Given the description of an element on the screen output the (x, y) to click on. 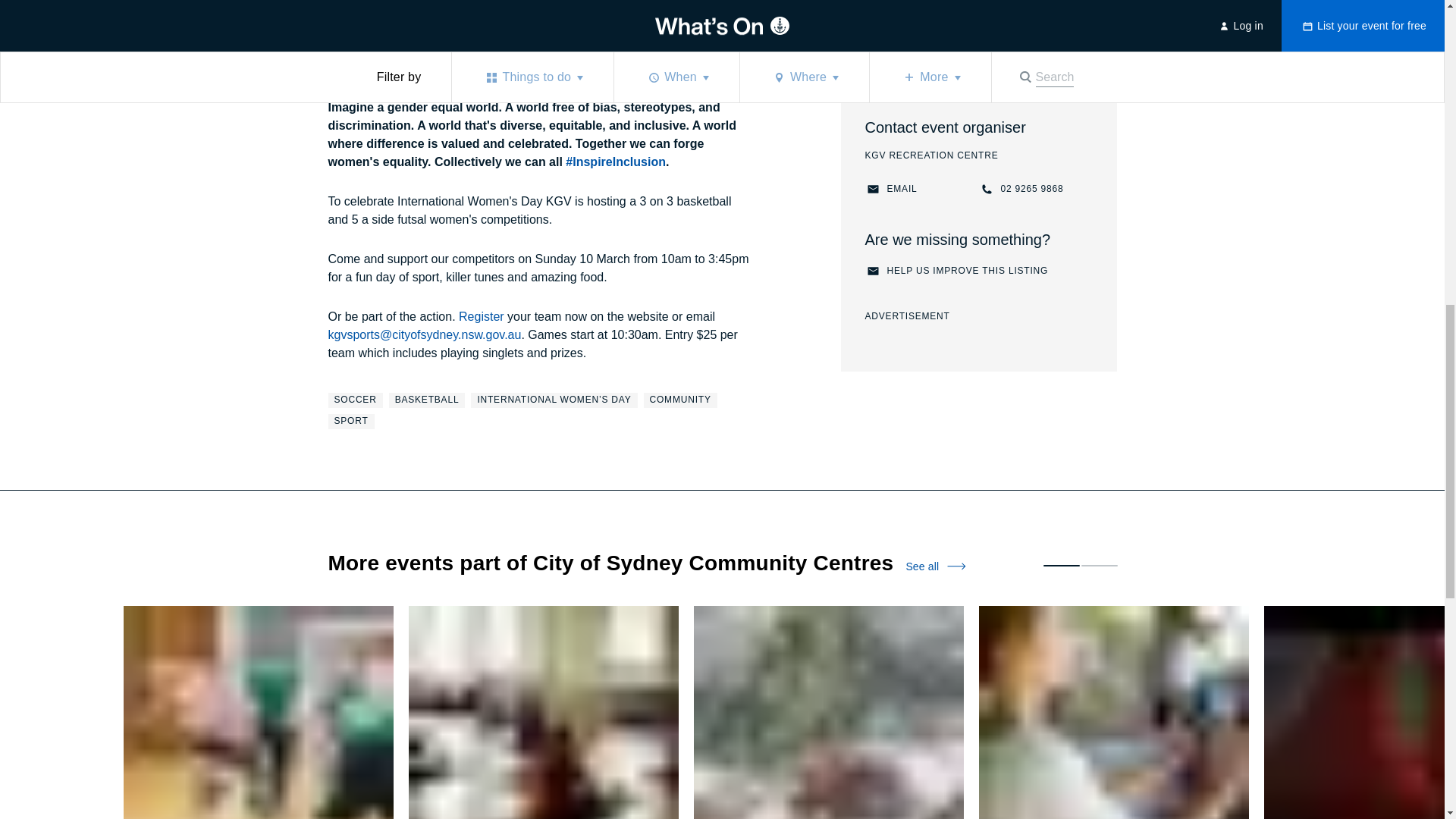
COMMUNITY (956, 271)
SOCCER (680, 400)
SPORT (373, 2)
Yoga (1020, 189)
See all (354, 400)
Get directions (350, 421)
Register (890, 189)
BASKETBALL (542, 712)
